Given the description of an element on the screen output the (x, y) to click on. 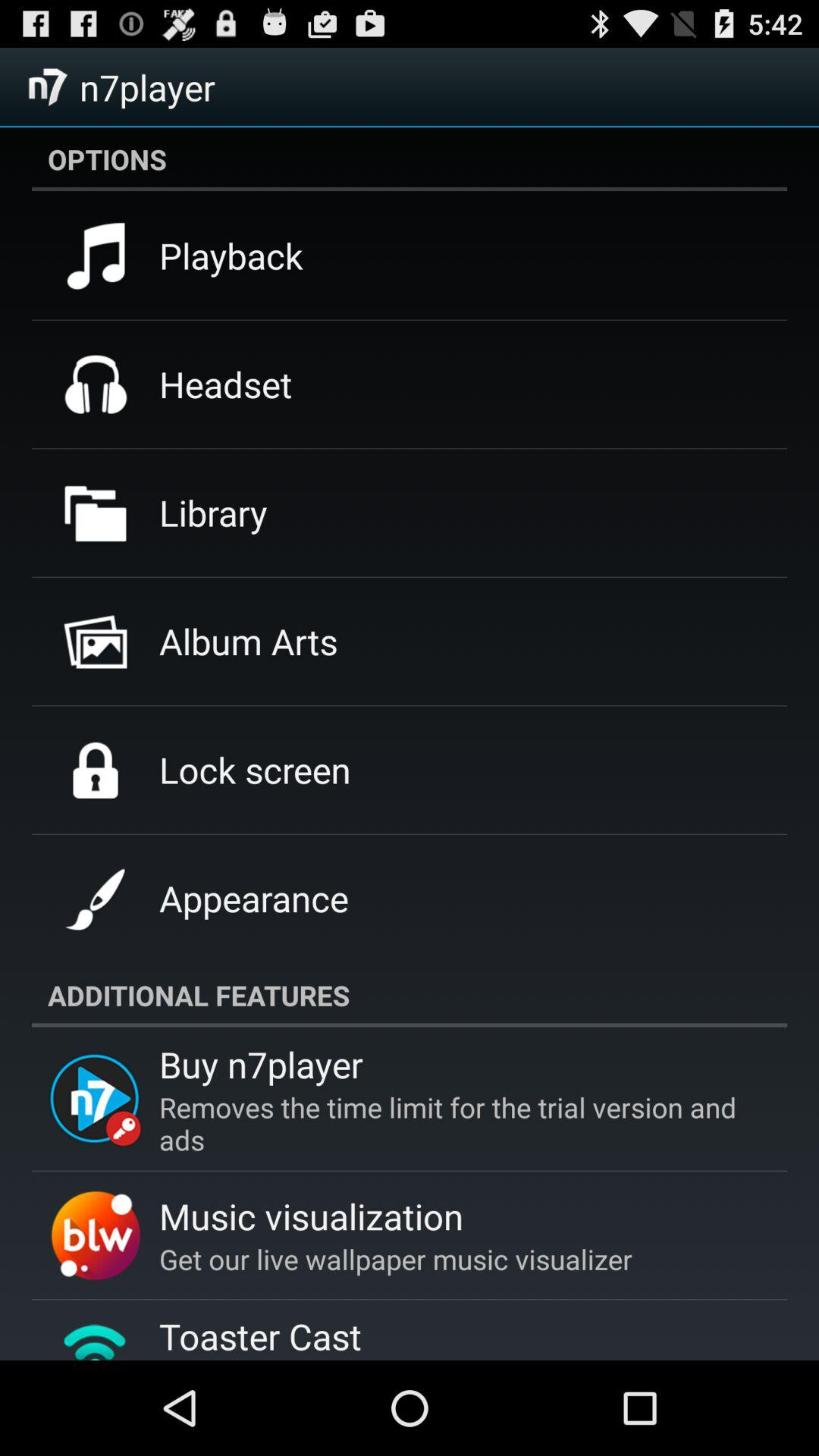
flip to lock screen icon (254, 769)
